Given the description of an element on the screen output the (x, y) to click on. 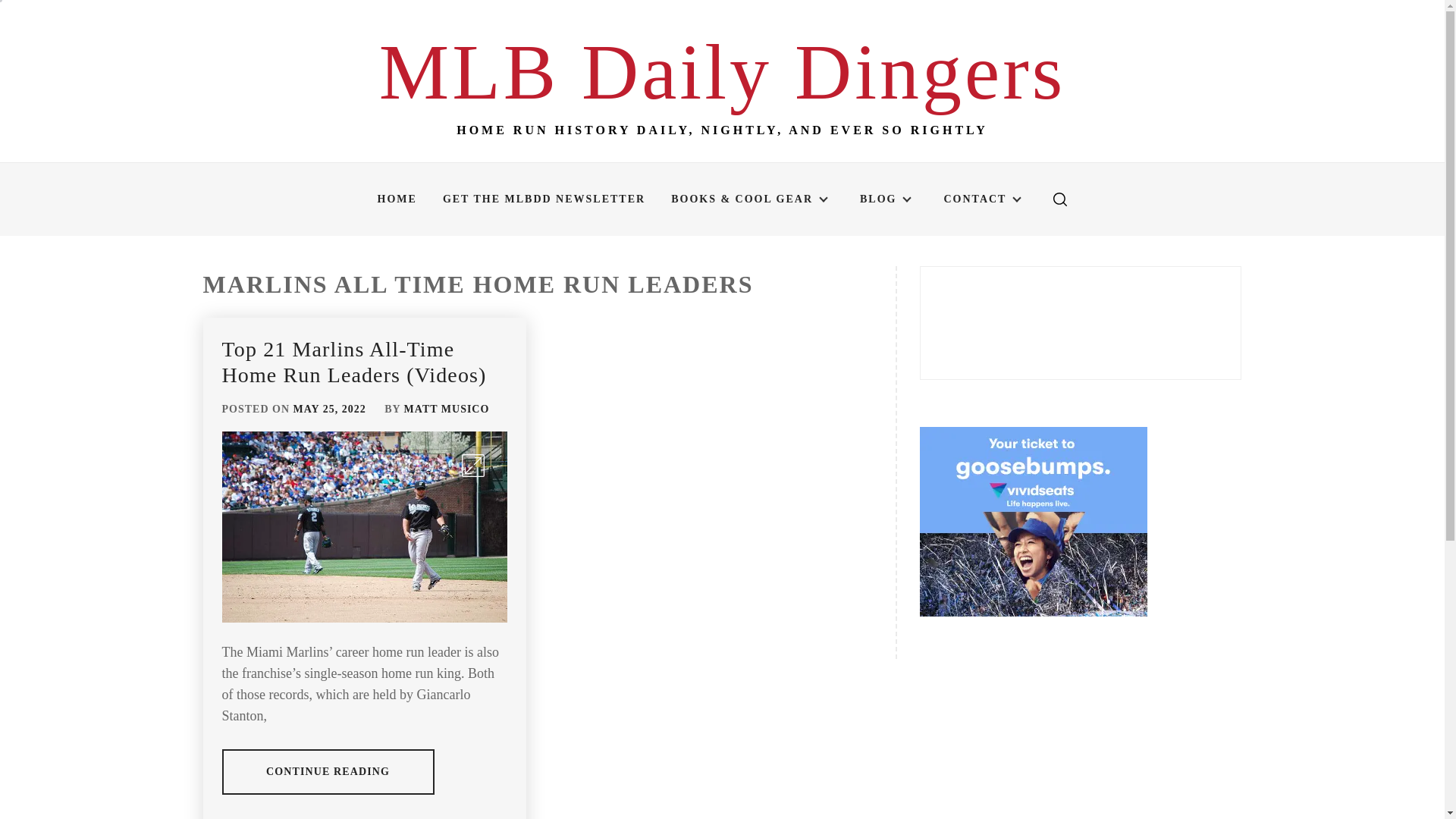
CONTINUE READING (327, 771)
MLB Daily Dingers (721, 71)
MATT MUSICO (446, 408)
DAN UGGLA (463, 818)
Search (797, 409)
GET THE MLBDD NEWSLETTER (543, 198)
CAREER (312, 818)
CONTACT (985, 198)
MAY 25, 2022 (330, 408)
BLOG (888, 198)
